Given the description of an element on the screen output the (x, y) to click on. 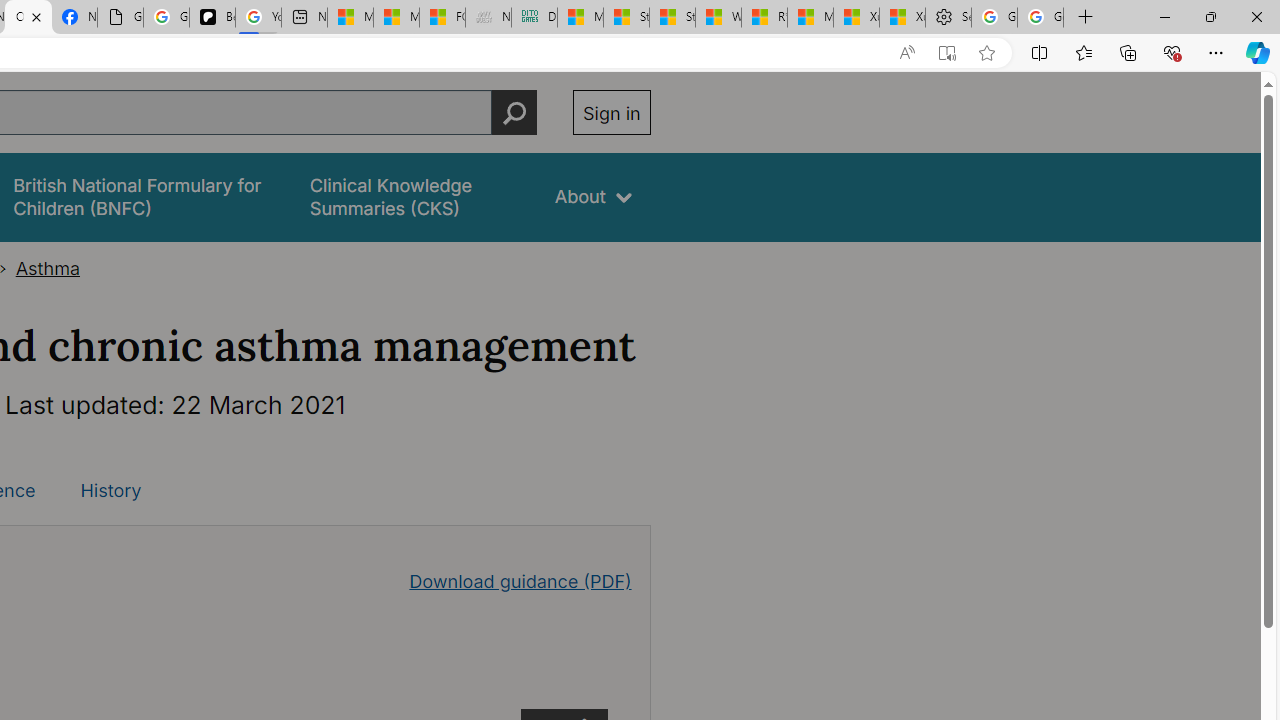
Asthma (47, 268)
Asthma (47, 268)
Perform search (514, 112)
